Given the description of an element on the screen output the (x, y) to click on. 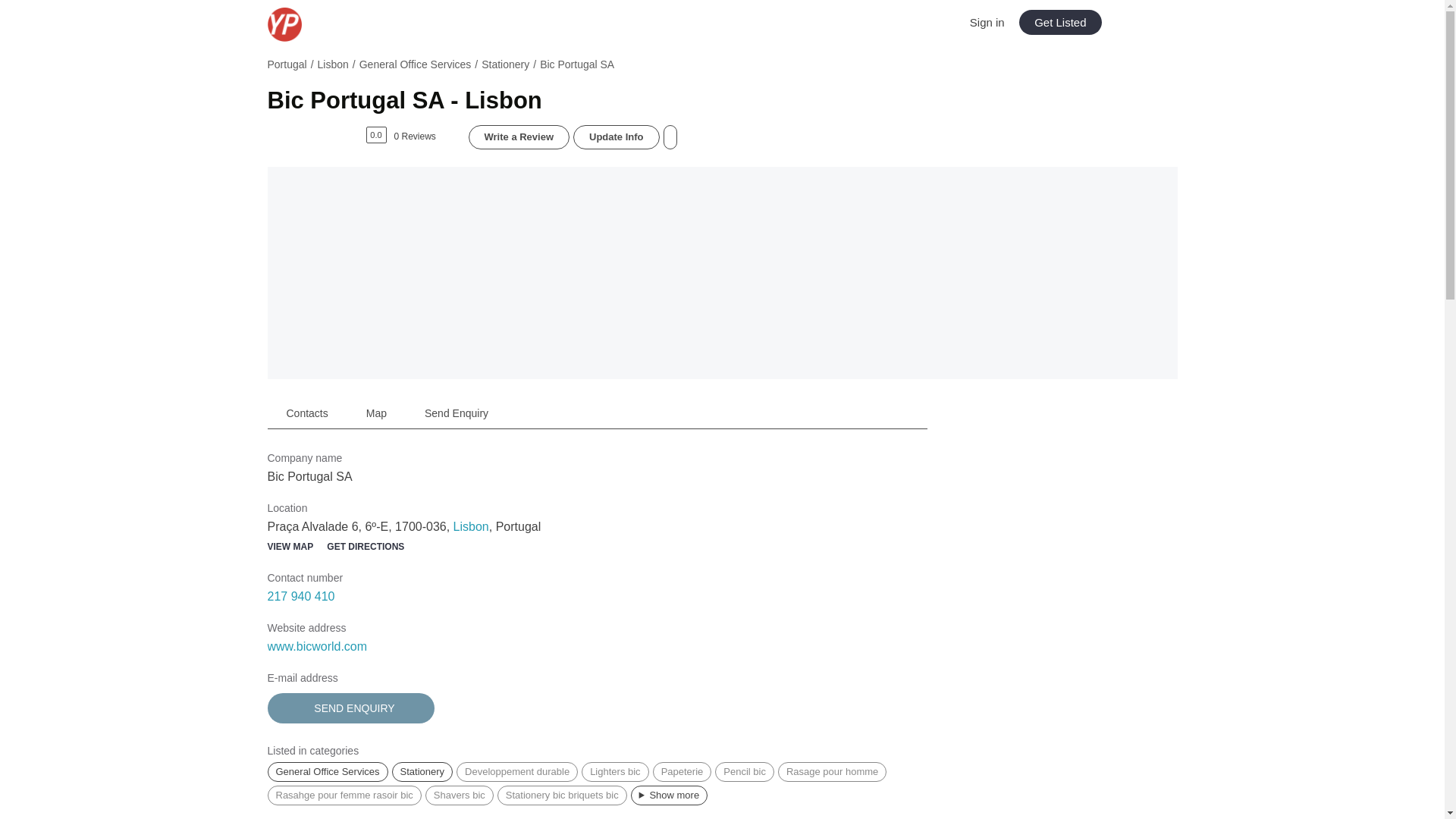
www.bicworld.com (316, 645)
Developpement durable (517, 772)
Lisbon (333, 64)
General Office Services (415, 64)
Contacts (306, 413)
Stationery companies in Portugal (421, 772)
Write a Review (519, 137)
Lisbon (470, 526)
Sign in (986, 21)
